Given the description of an element on the screen output the (x, y) to click on. 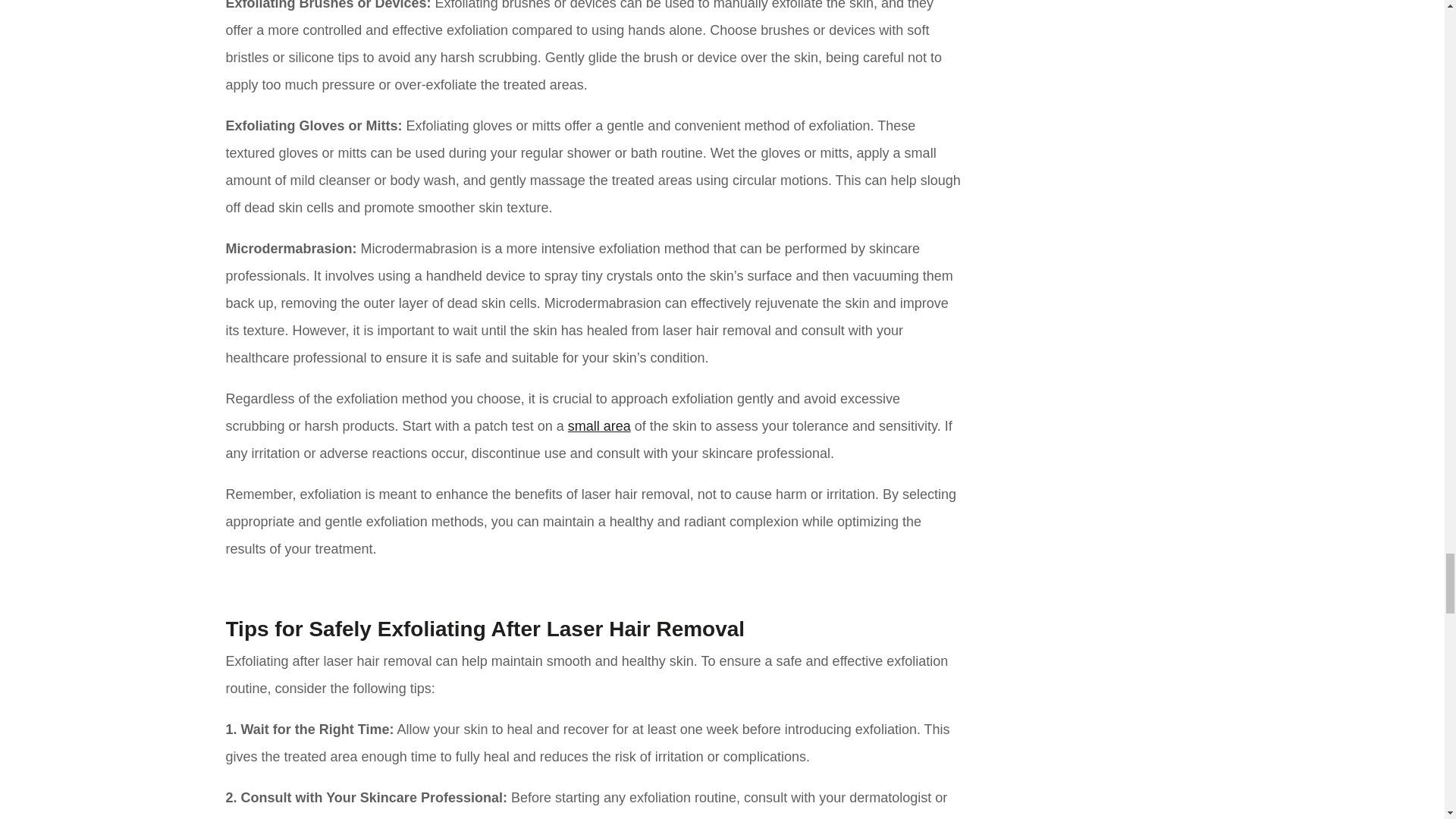
small area (598, 426)
